Given the description of an element on the screen output the (x, y) to click on. 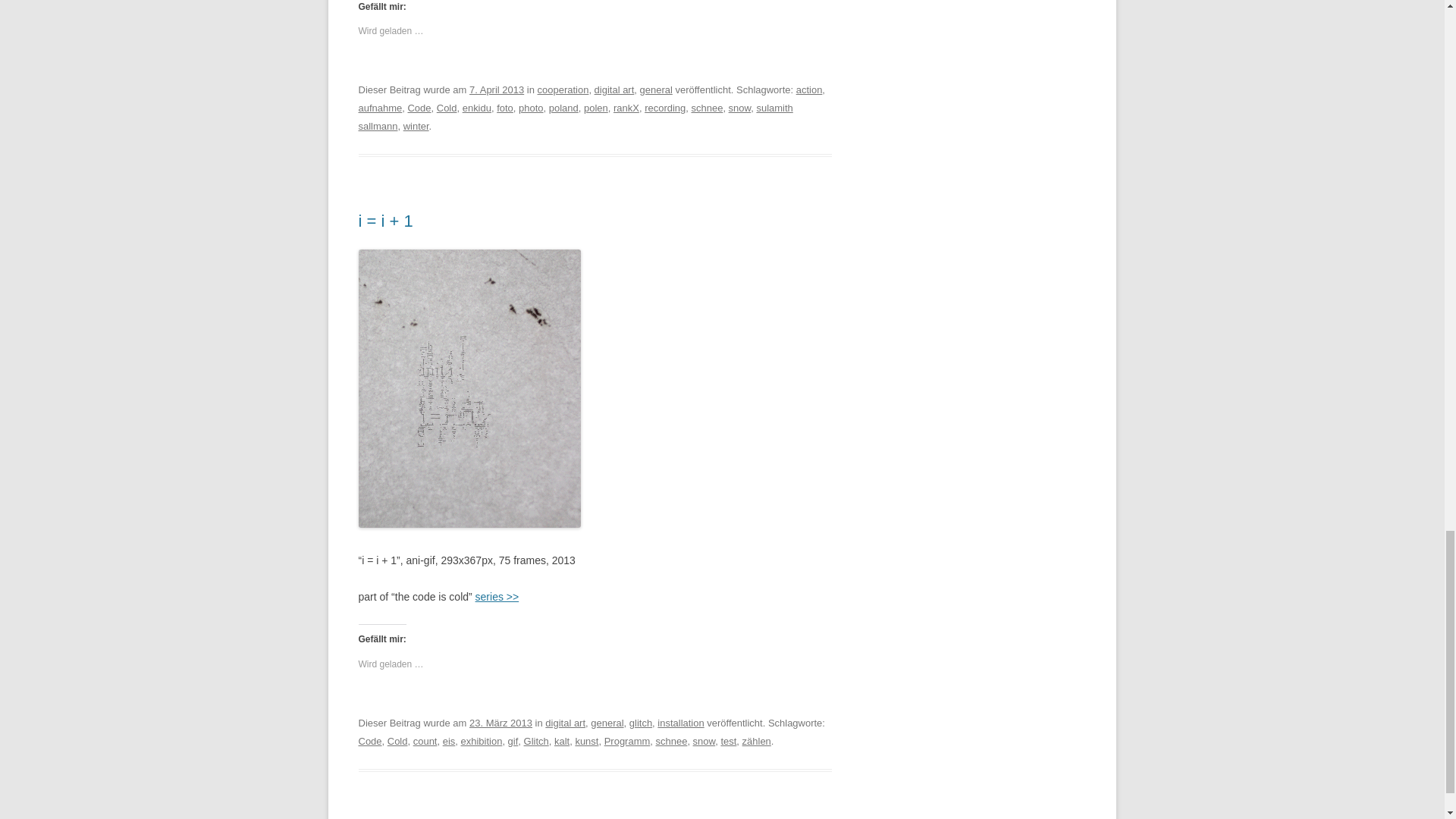
23:33 (496, 89)
18:50 (500, 722)
CiC (497, 596)
